Given the description of an element on the screen output the (x, y) to click on. 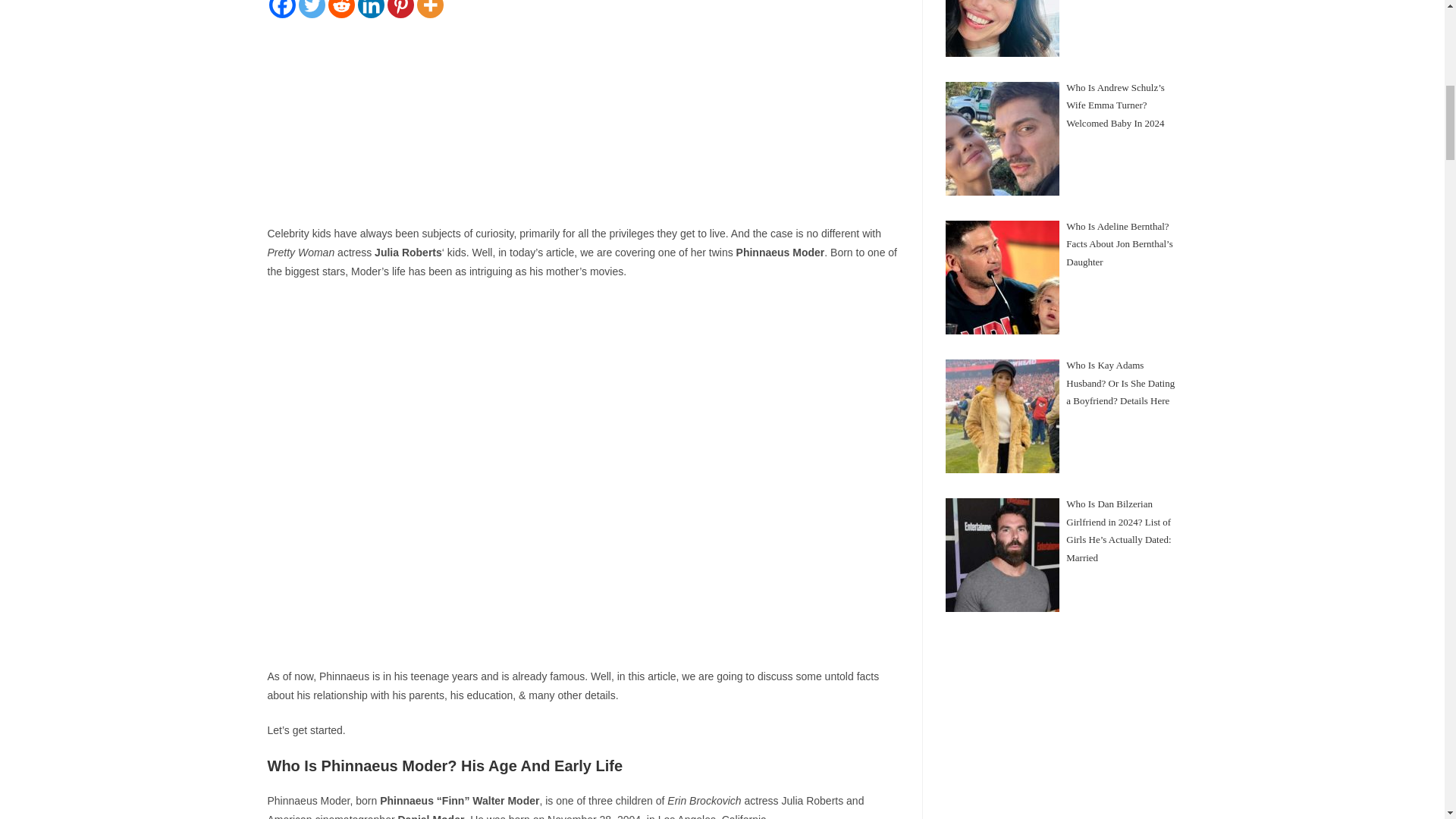
More (430, 9)
Facebook (281, 9)
Linkedin (371, 9)
Pinterest (400, 9)
Reddit (340, 9)
Twitter (311, 9)
